Given the description of an element on the screen output the (x, y) to click on. 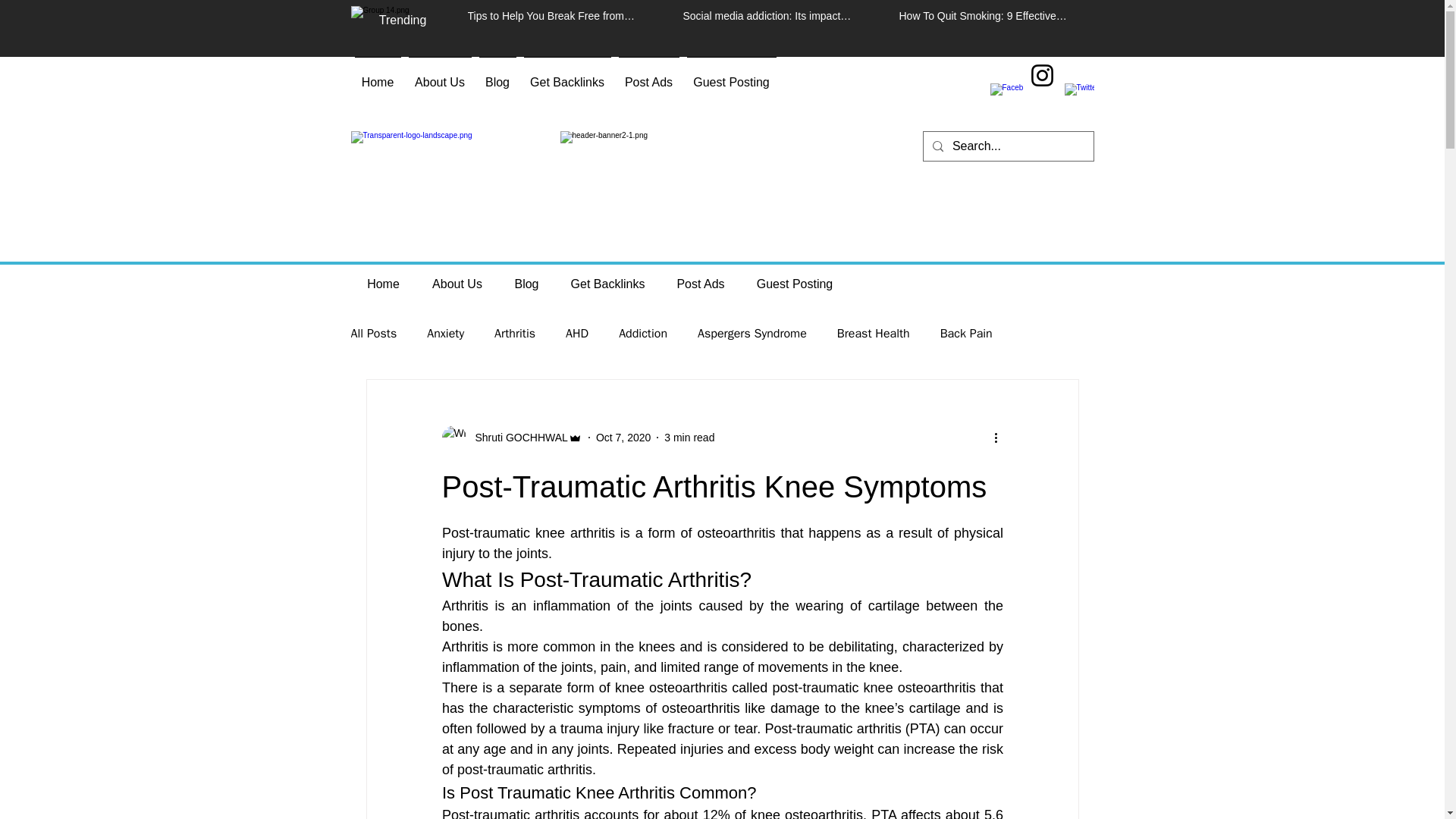
Aspergers Syndrome (751, 333)
3 min read (688, 437)
How To Quit Smoking: 9 Effective Tips And Methods (984, 18)
About Us (455, 284)
Post Ads (648, 75)
About Us (440, 75)
Home (377, 75)
Addiction (642, 333)
Blog (526, 284)
Shruti GOCHHWAL (516, 437)
Post Ads (701, 284)
All Posts (373, 333)
Social media addiction: Its impact and intervention (768, 18)
Home (382, 284)
Get Backlinks (607, 284)
